Given the description of an element on the screen output the (x, y) to click on. 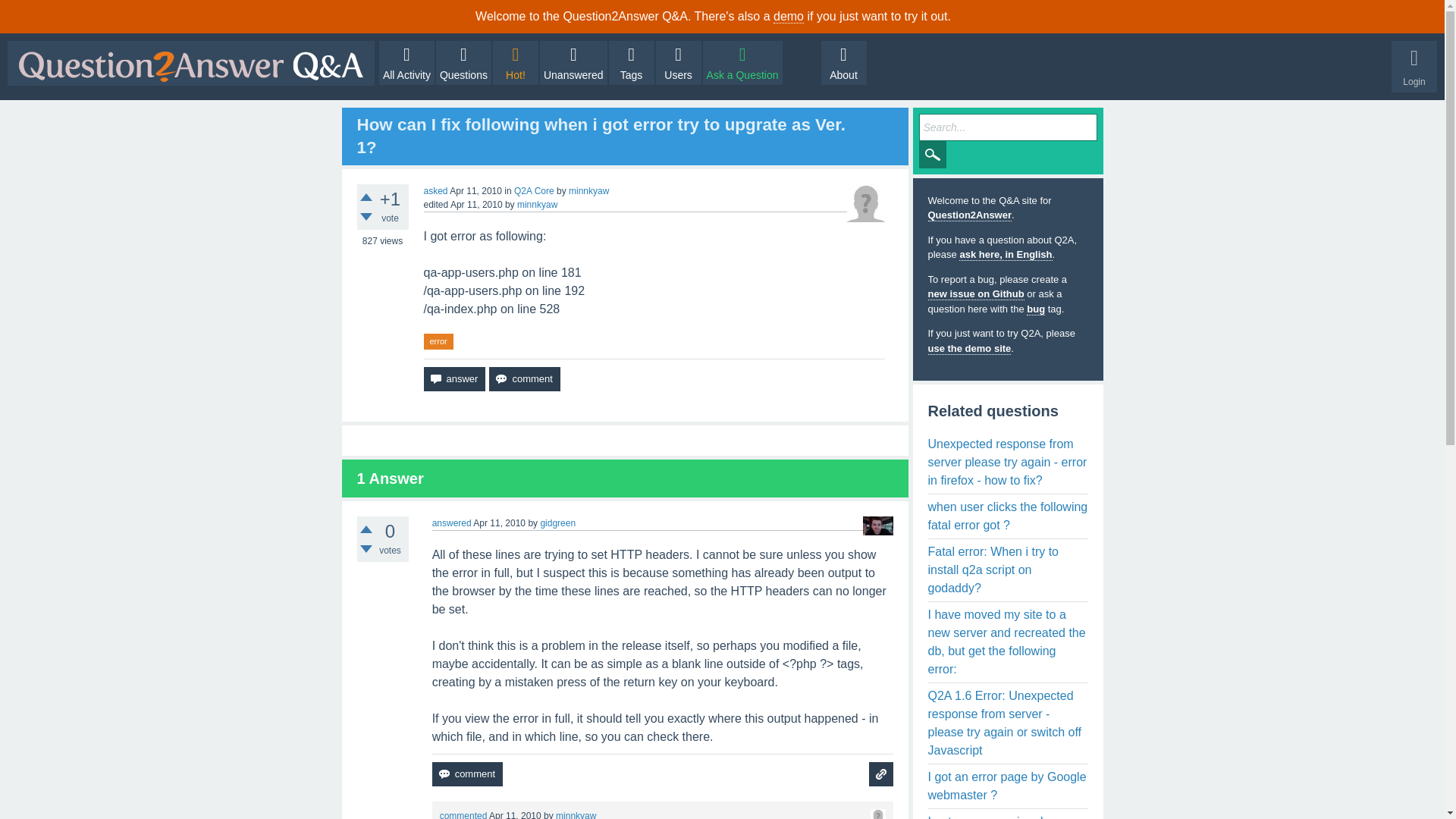
Users (678, 62)
error (437, 341)
Search (932, 154)
Unanswered (573, 62)
answer (453, 378)
Q2A Core (533, 190)
Click to vote up (365, 196)
ask related question (881, 774)
All Activity (405, 62)
answered (451, 522)
X (1427, 16)
asked (434, 190)
Answer this question (453, 378)
comment (467, 774)
